Given the description of an element on the screen output the (x, y) to click on. 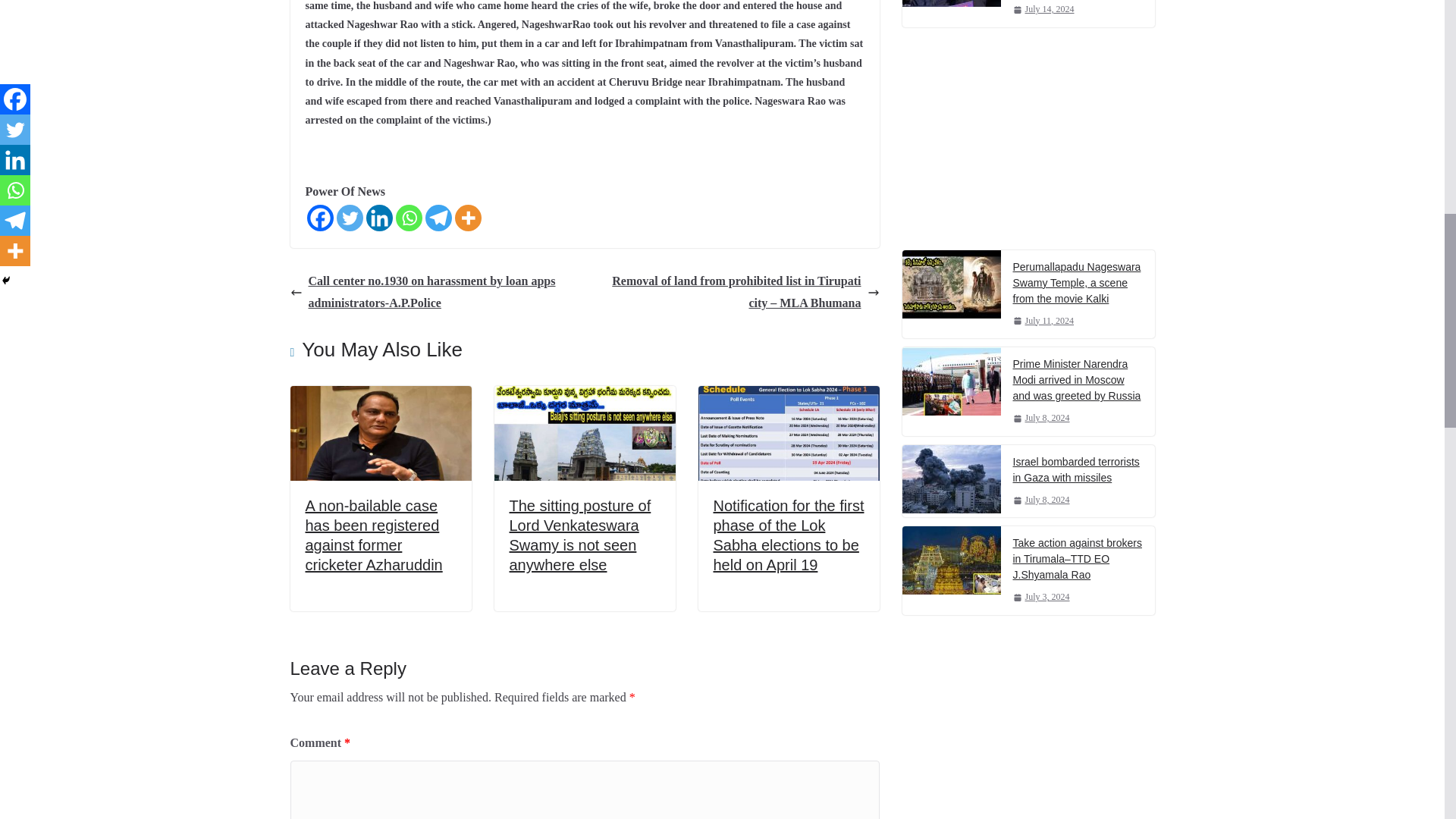
Telegram (438, 217)
Linkedin (378, 217)
Whatsapp (409, 217)
Twitter (349, 217)
More (467, 217)
Facebook (319, 217)
